Given the description of an element on the screen output the (x, y) to click on. 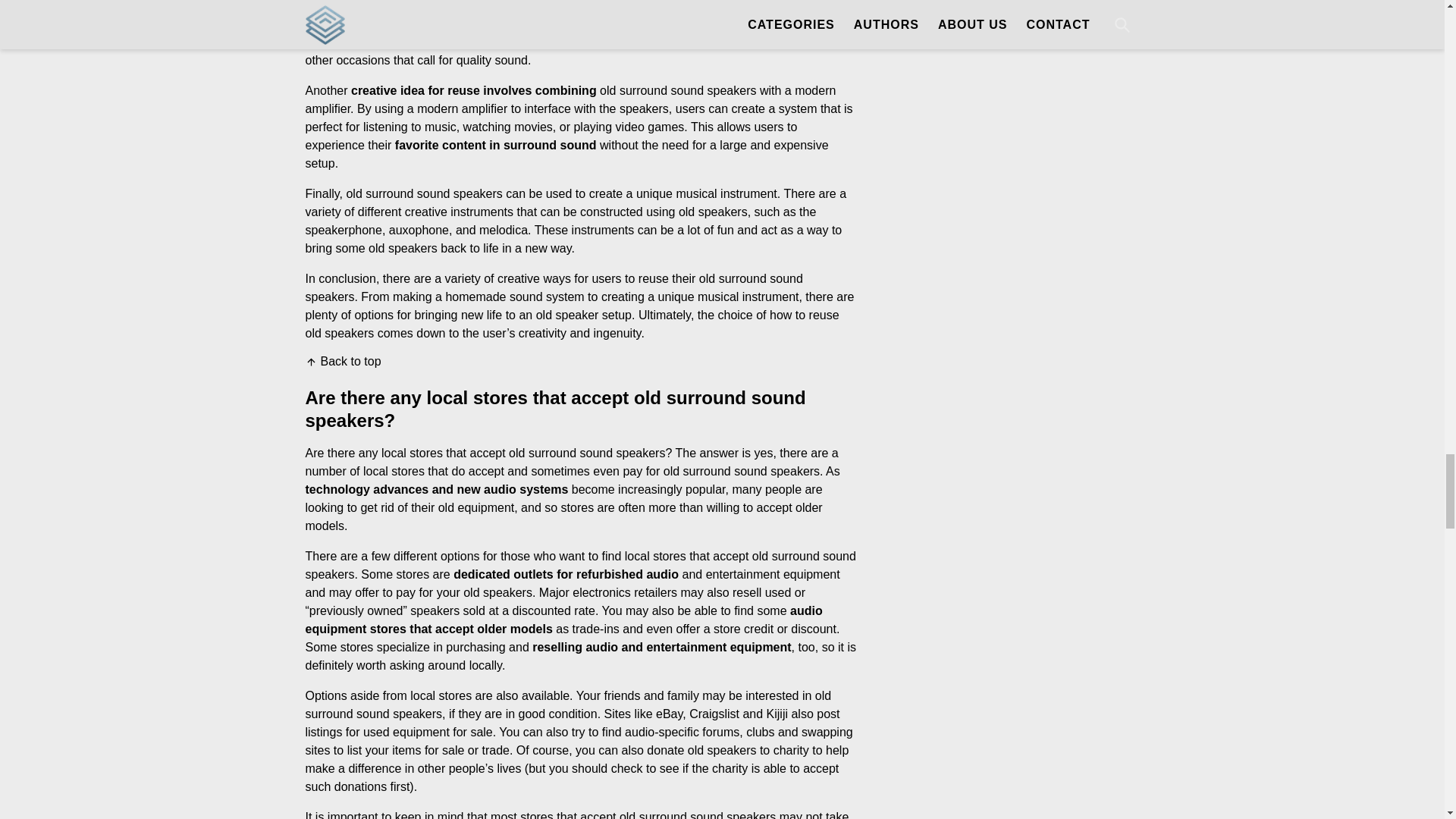
Back to top (342, 361)
